Given the description of an element on the screen output the (x, y) to click on. 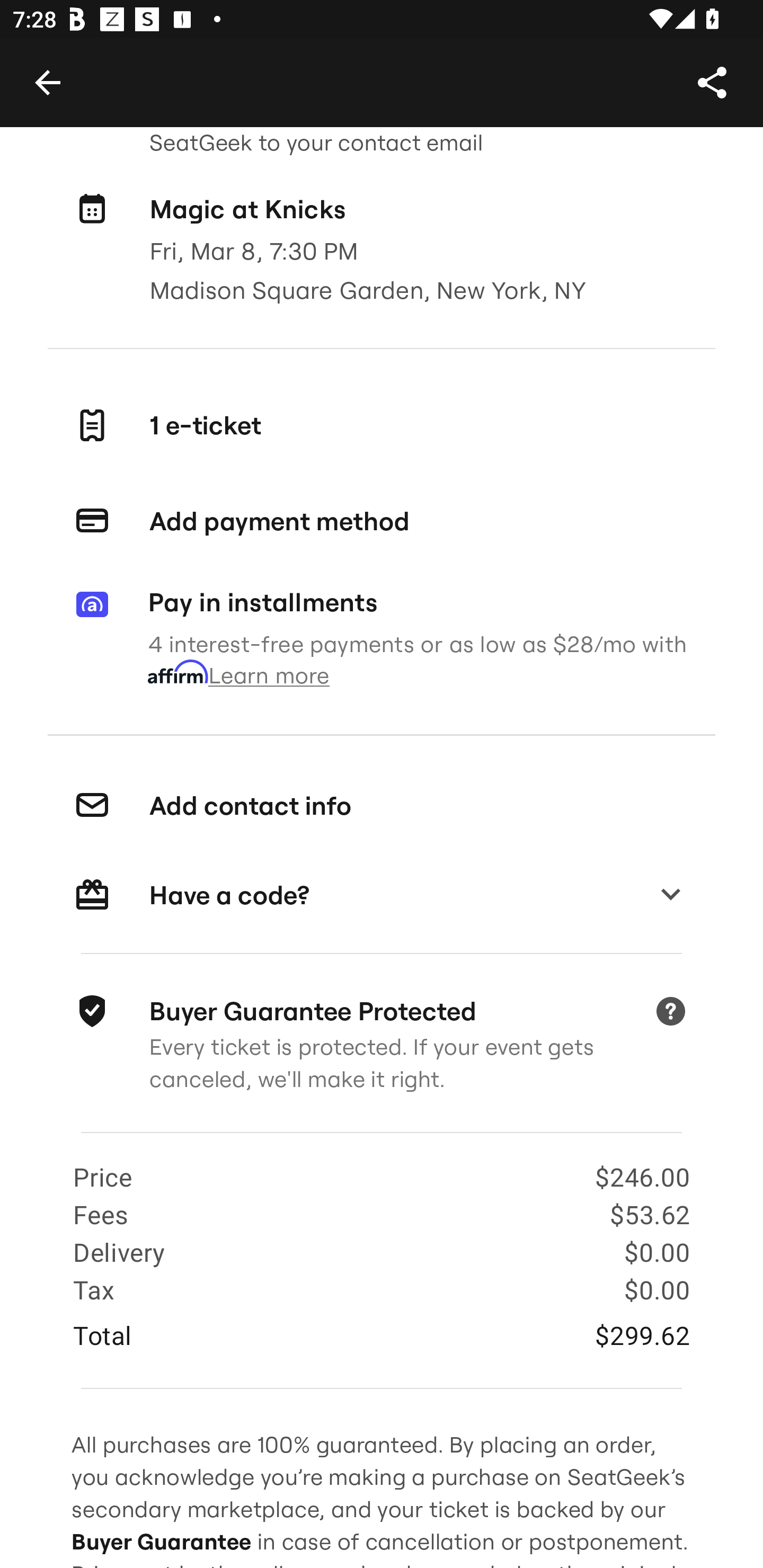
Expand image to fullscreen (57, 69)
Share (711, 81)
1 e-ticket (381, 425)
Add payment method (381, 521)
Add contact info (381, 805)
Have a code? Expand to show options (381, 895)
